Given the description of an element on the screen output the (x, y) to click on. 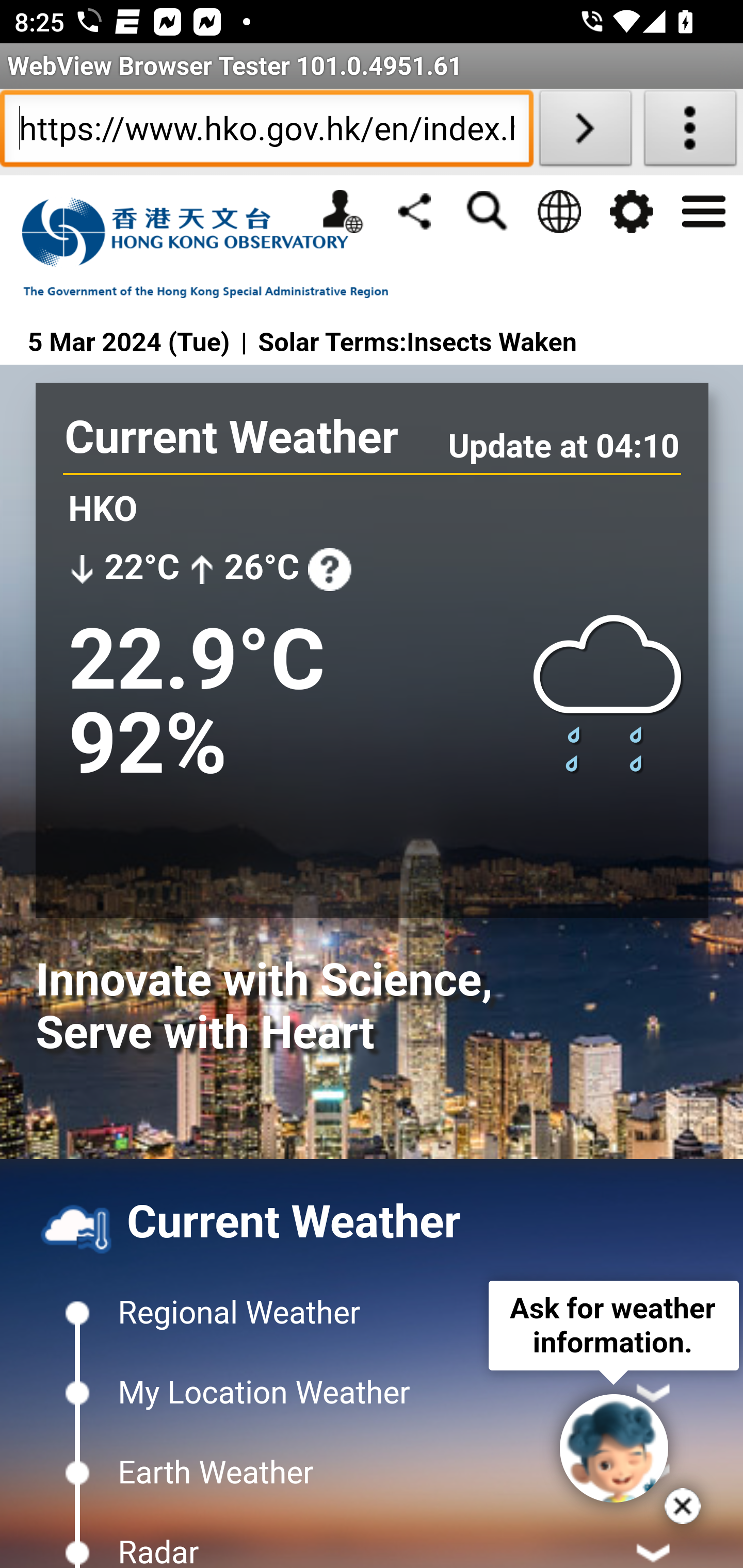
https://www.hko.gov.hk/en/index.html (266, 132)
Load URL (585, 132)
About WebView (690, 132)
Hong Kong Observatory (215, 247)
Personalized Website Personalized Website (341, 211)
Search Search (486, 211)
Language Language (558, 211)
Setting Setting (630, 211)
Share Share (414, 210)
Menu Menu (703, 209)
Insects Waken (492, 343)
Current Weather (230, 437)
Help (329, 569)
Light Rain (608, 690)
Regional Weather (371, 1313)
My Location Weather (371, 1392)
Chat with Dr. Tin (614, 1447)
Earth Weather (371, 1472)
Close (683, 1505)
Radar (371, 1539)
